Given the description of an element on the screen output the (x, y) to click on. 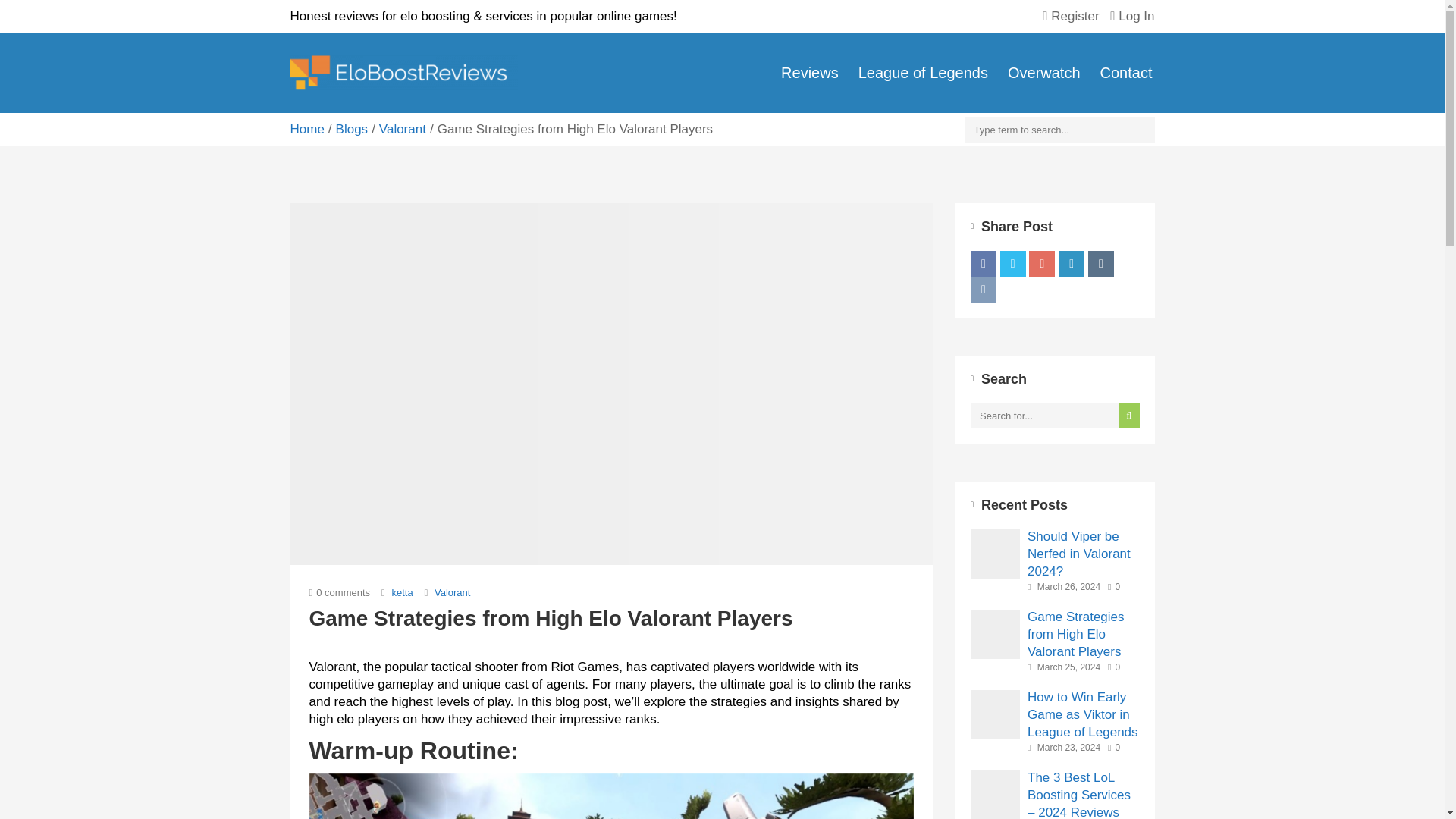
Blogs (352, 129)
Game Strategies from High Elo Valorant Players (1083, 634)
Post categories (447, 592)
Contact (1123, 72)
Share on VK (983, 289)
ketta (400, 592)
Share on Tumblr (1100, 263)
Valorant (451, 592)
Overwatch (1043, 72)
Contact (1123, 72)
Log In (1131, 16)
Overwatch (1043, 72)
Share on Twitter (1013, 263)
League of Legends (922, 72)
Home (306, 129)
